Given the description of an element on the screen output the (x, y) to click on. 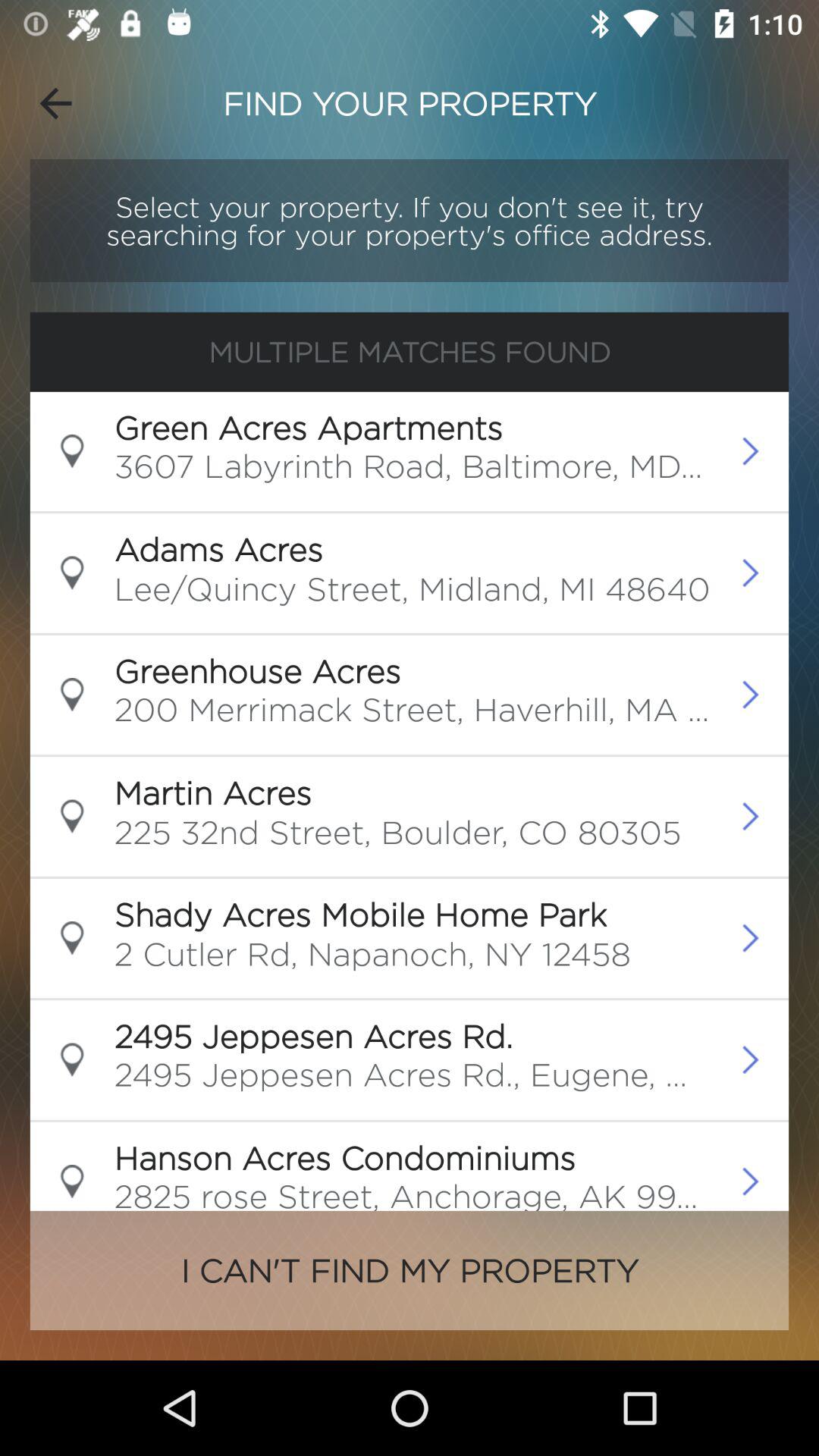
swipe until the 200 merrimack street item (413, 714)
